Given the description of an element on the screen output the (x, y) to click on. 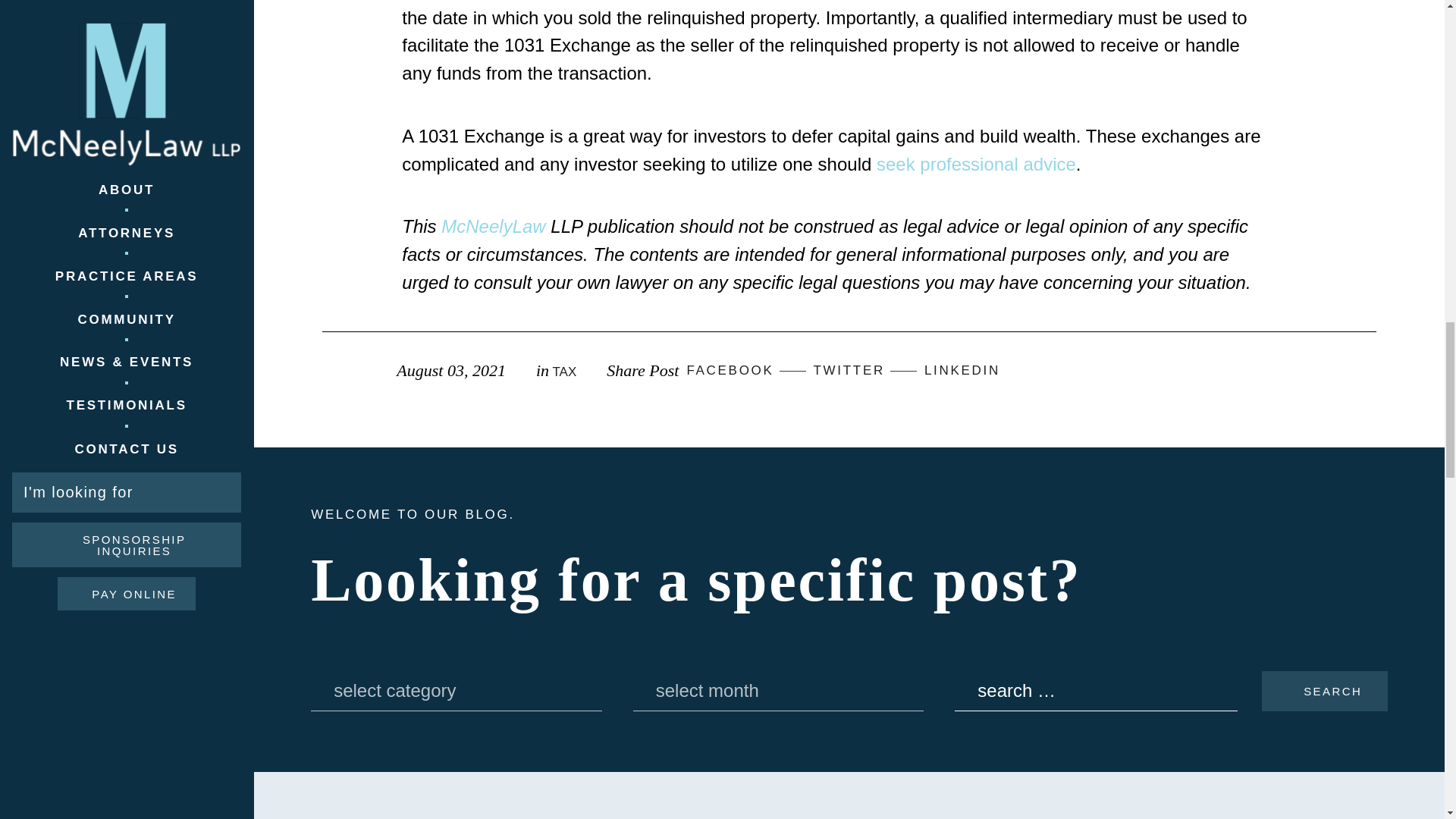
seek professional advice (975, 163)
McNeelyLaw (492, 226)
Search (1324, 690)
Search (1324, 690)
